Given the description of an element on the screen output the (x, y) to click on. 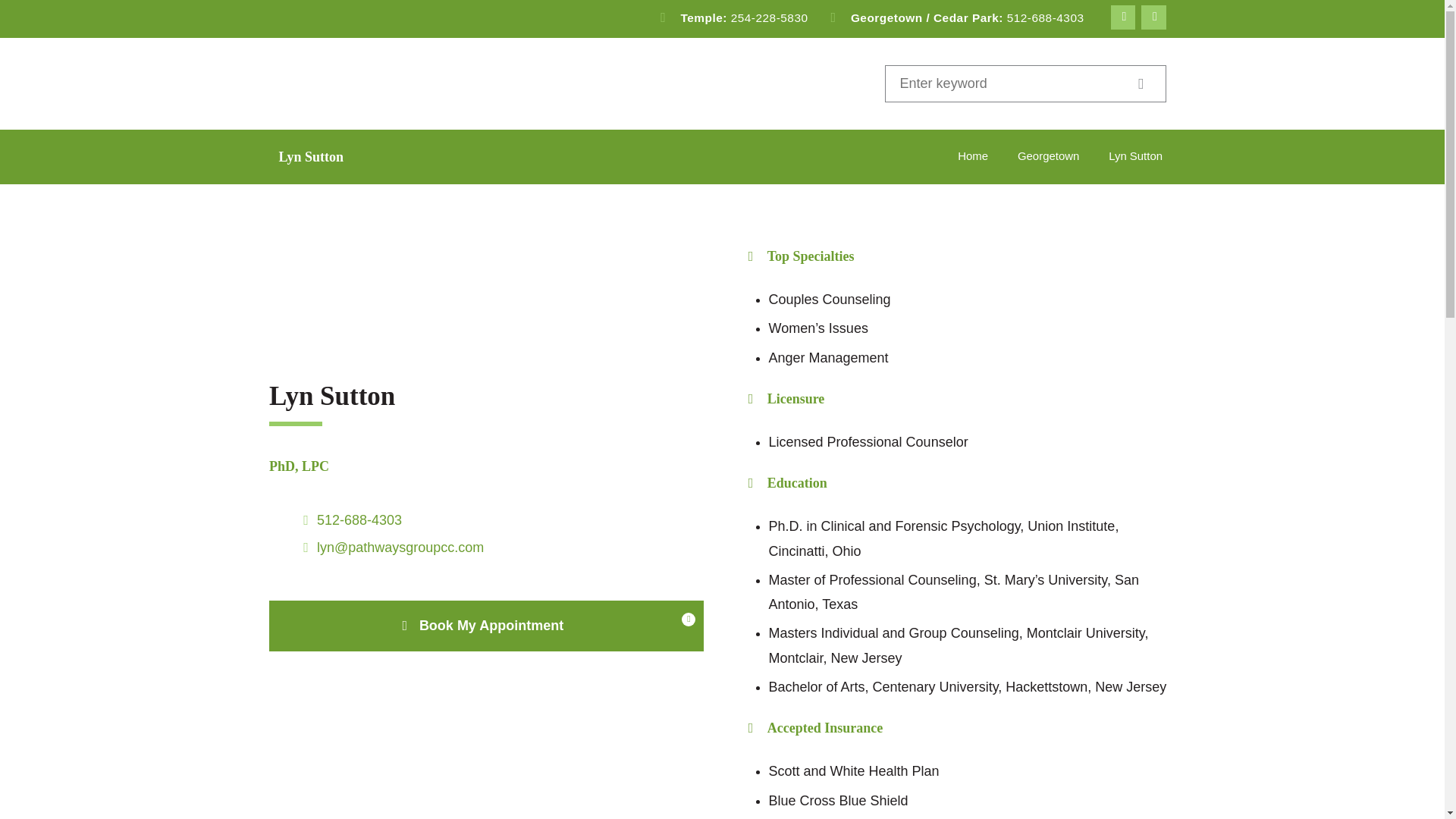
512-688-4303 (359, 519)
Enter keyword (1010, 84)
Temple: 254-228-5830 (730, 18)
Home (973, 156)
Start search (1139, 84)
Book My Appointment (486, 625)
Georgetown (1047, 156)
